Given the description of an element on the screen output the (x, y) to click on. 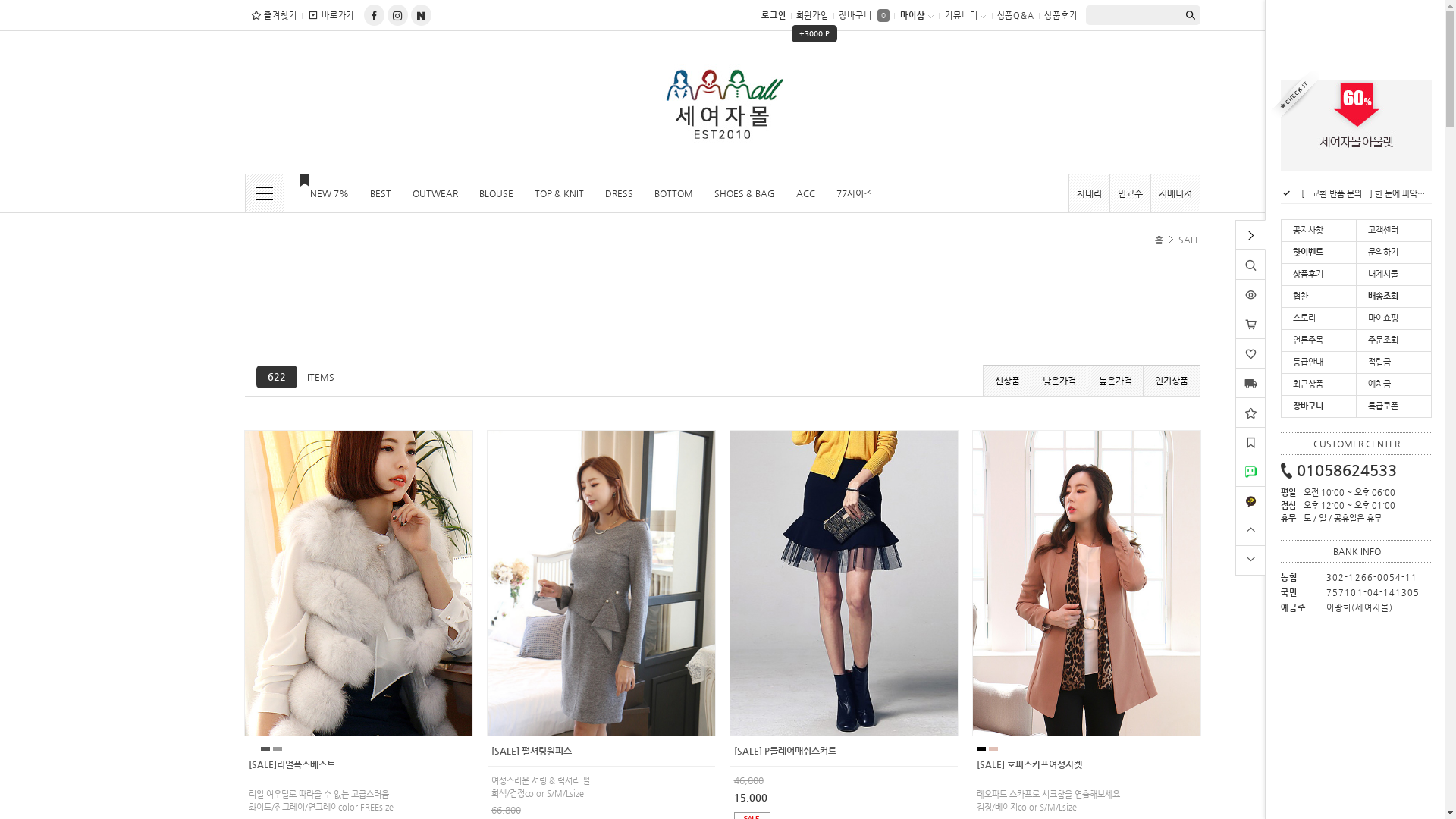
NEW 7% Element type: text (320, 193)
SALE Element type: text (1189, 239)
BLOUSE Element type: text (496, 193)
TOP & KNIT Element type: text (558, 193)
DRESS Element type: text (618, 193)
ACC Element type: text (805, 193)
BOTTOM Element type: text (672, 193)
BEST Element type: text (380, 193)
SHOES & BAG Element type: text (744, 193)
OUTWEAR Element type: text (434, 193)
